Given the description of an element on the screen output the (x, y) to click on. 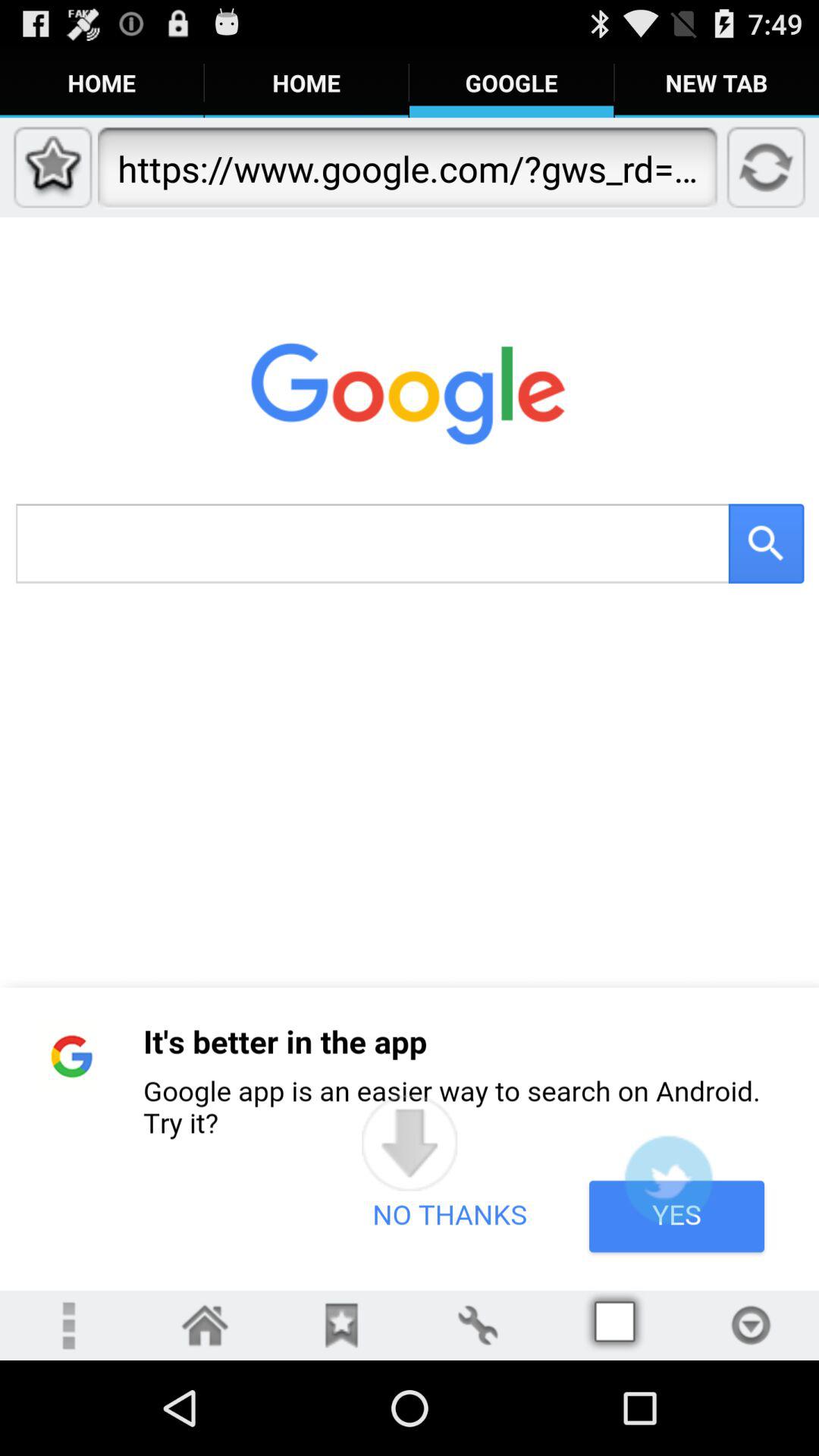
painer (477, 1325)
